Given the description of an element on the screen output the (x, y) to click on. 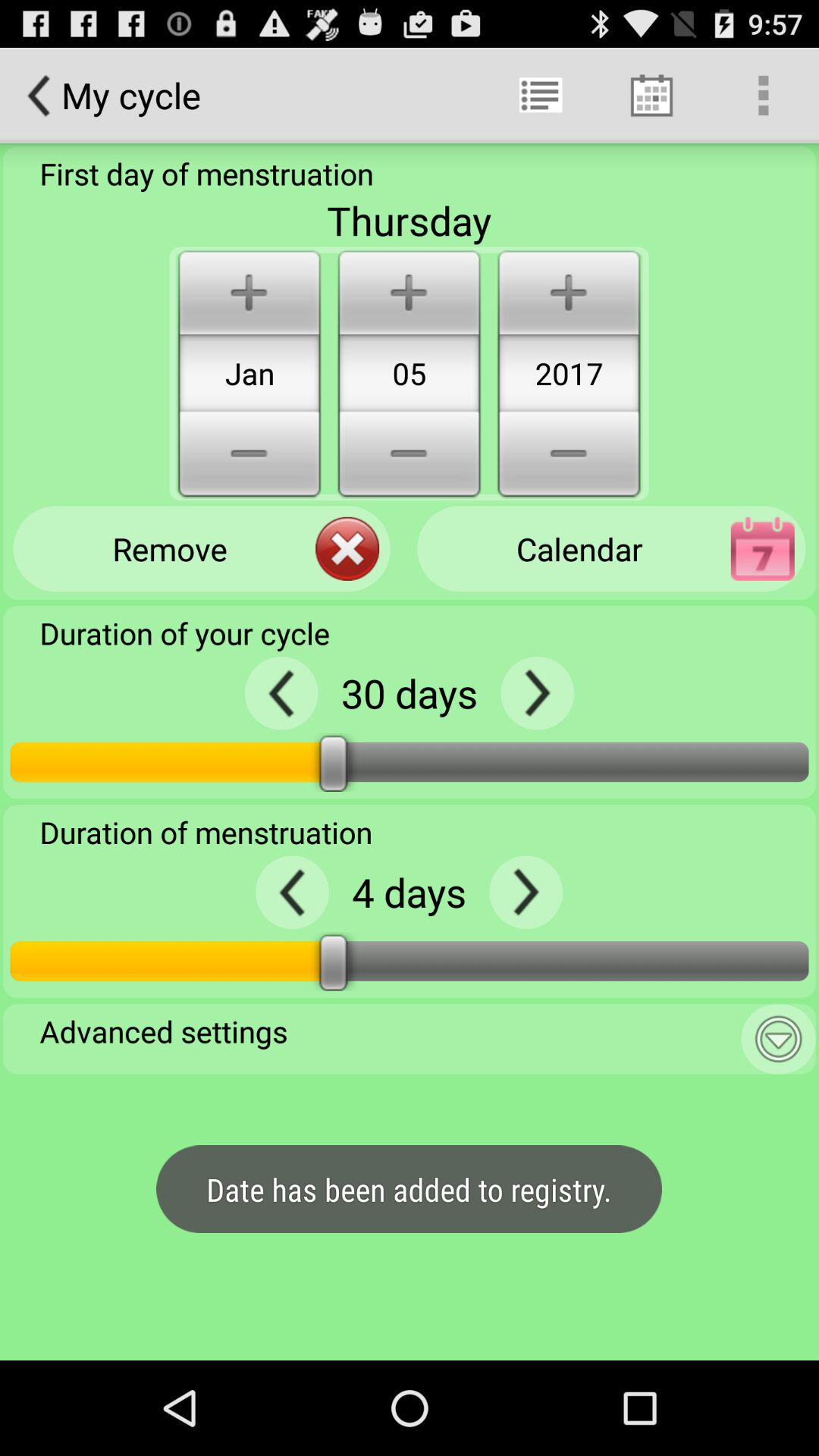
to click the advance settings (778, 1039)
